Given the description of an element on the screen output the (x, y) to click on. 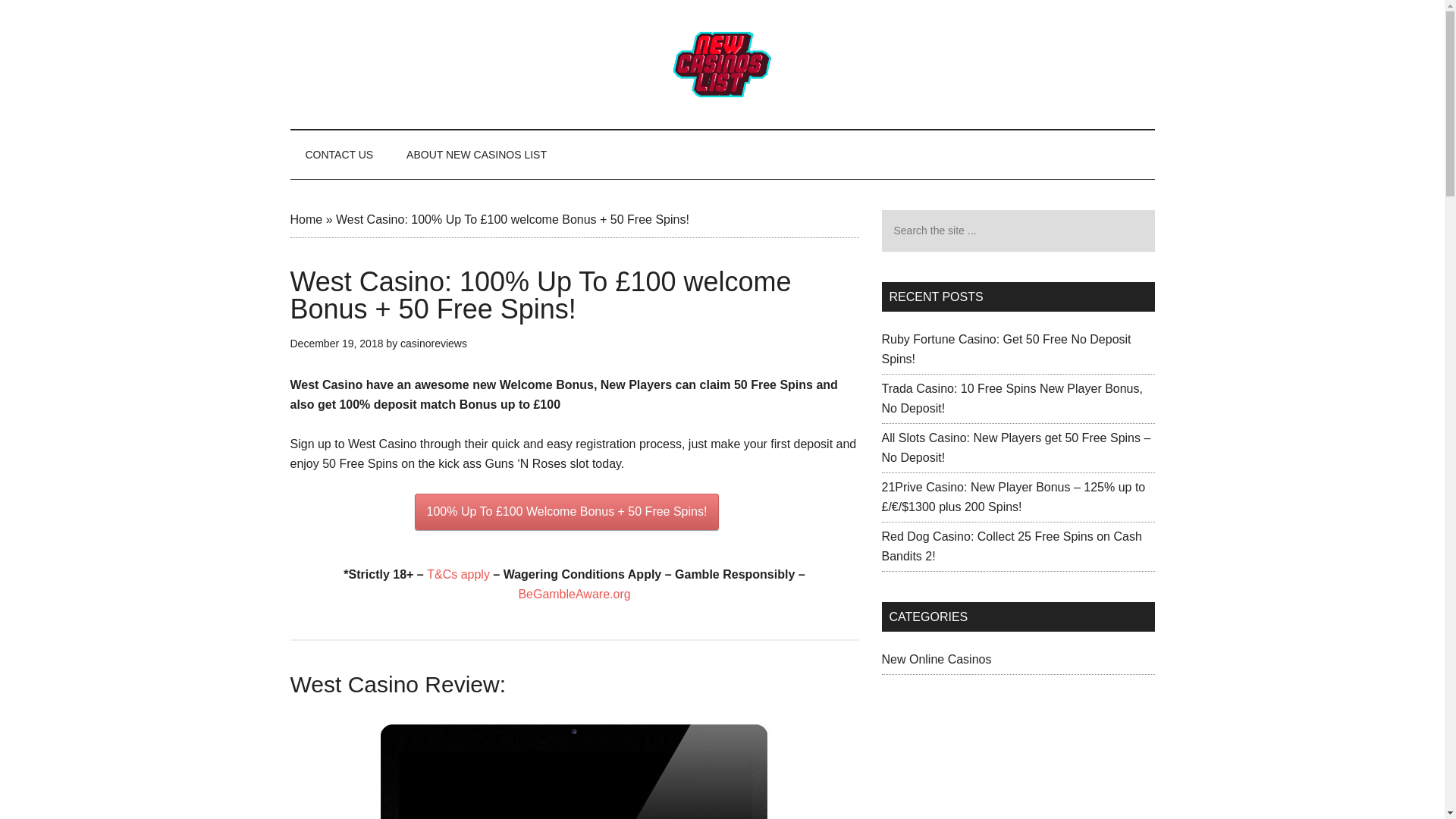
BeGambleAware.org (574, 594)
CONTACT US (338, 154)
ABOUT NEW CASINOS LIST (476, 154)
Ruby Fortune Casino: Get 50 Free No Deposit Spins! (1005, 348)
Red Dog Casino: Collect 25 Free Spins on Cash Bandits 2! (1010, 545)
Trada Casino: 10 Free Spins New Player Bonus, No Deposit! (1010, 398)
New Casinos Reviews List: The Best Online Casino Guide (721, 64)
casinoreviews (433, 343)
Home (305, 219)
New Online Casinos (935, 658)
